Given the description of an element on the screen output the (x, y) to click on. 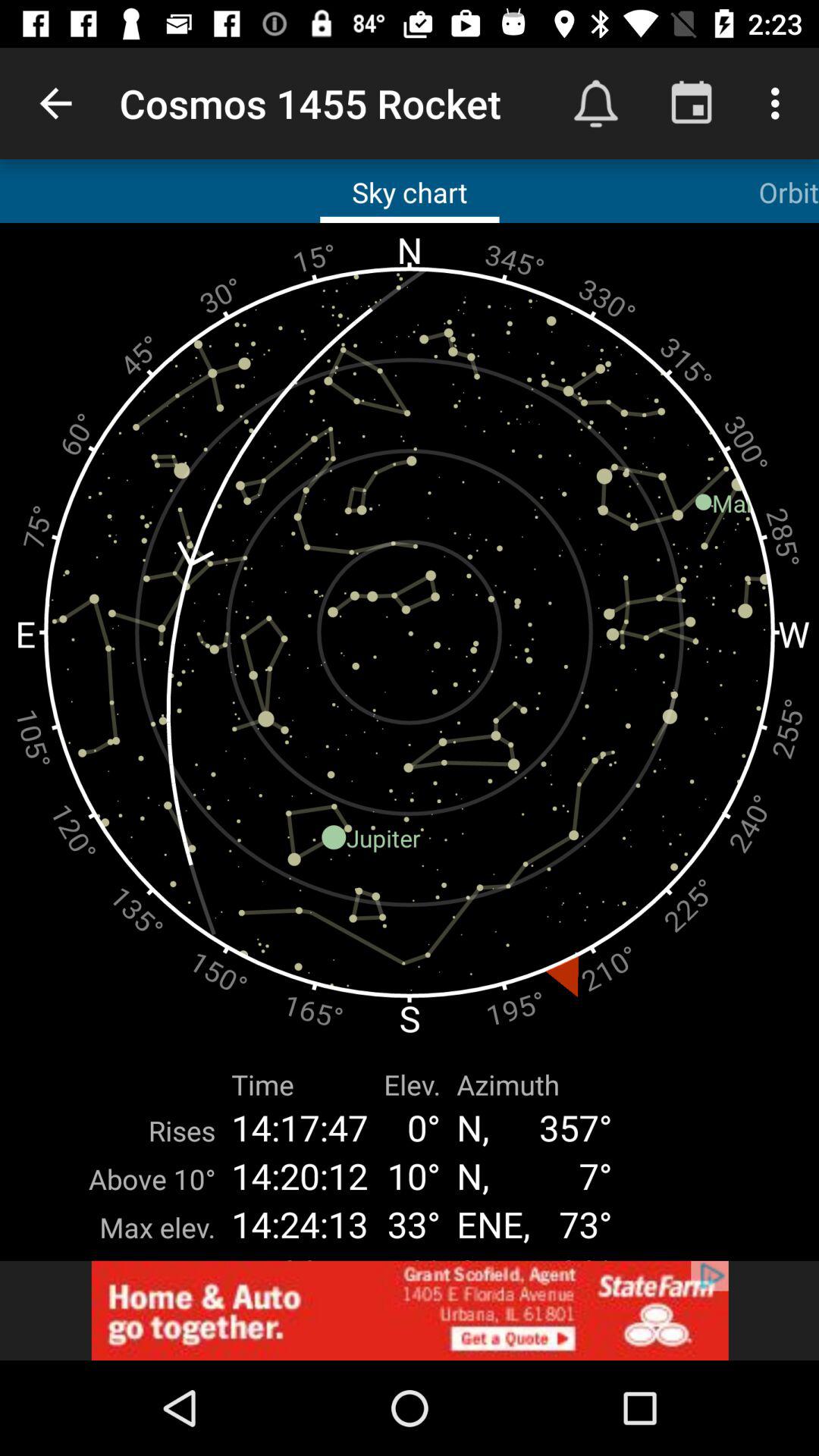
select the button right to the bell button (691, 103)
select the bell button at the top of the page (595, 103)
